Given the description of an element on the screen output the (x, y) to click on. 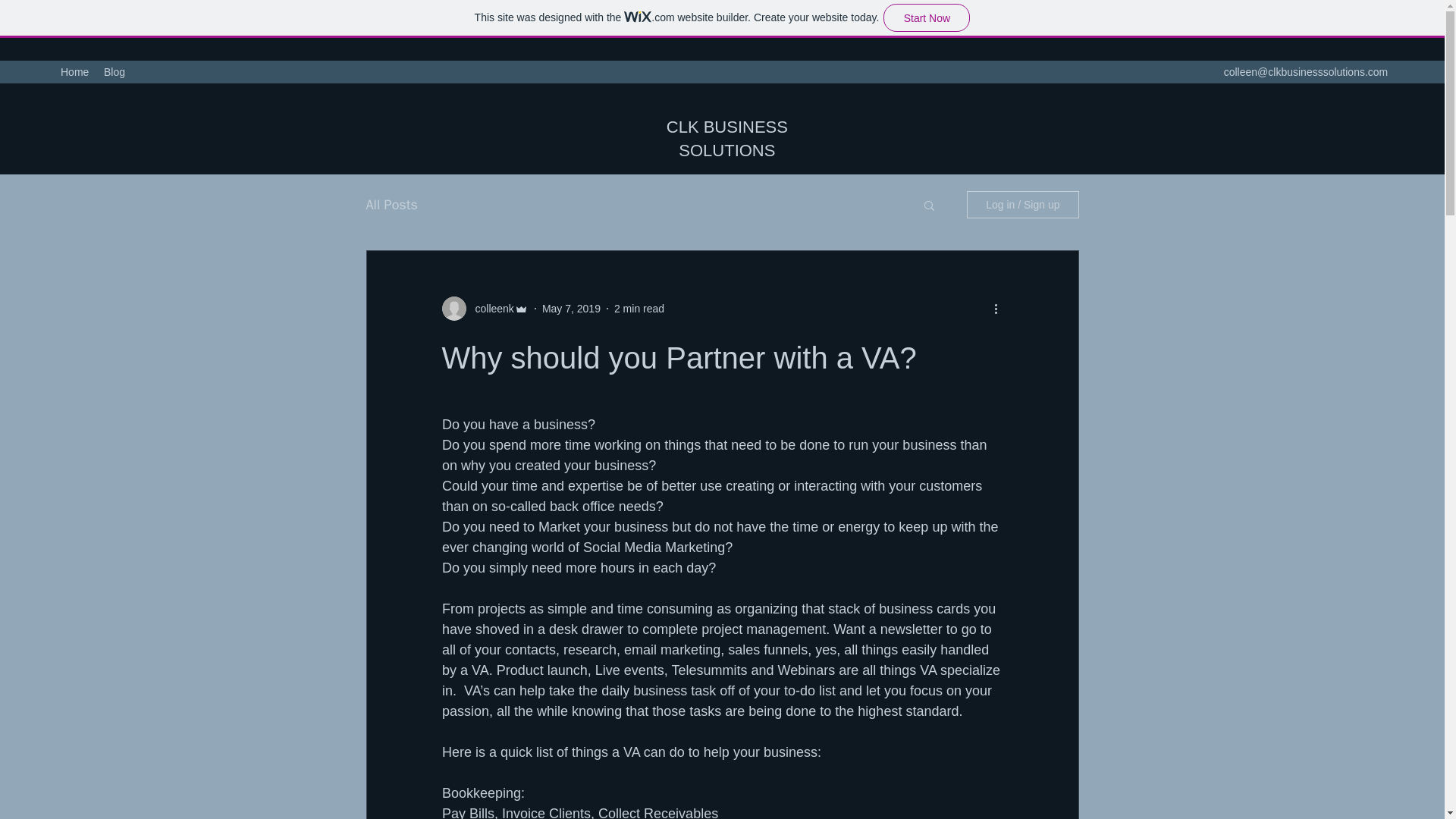
2 min read (638, 308)
Blog (114, 71)
colleenk (489, 308)
CLK BUSINESS SOLUTIONS (726, 138)
Home (74, 71)
May 7, 2019 (570, 308)
All Posts (390, 204)
